Given the description of an element on the screen output the (x, y) to click on. 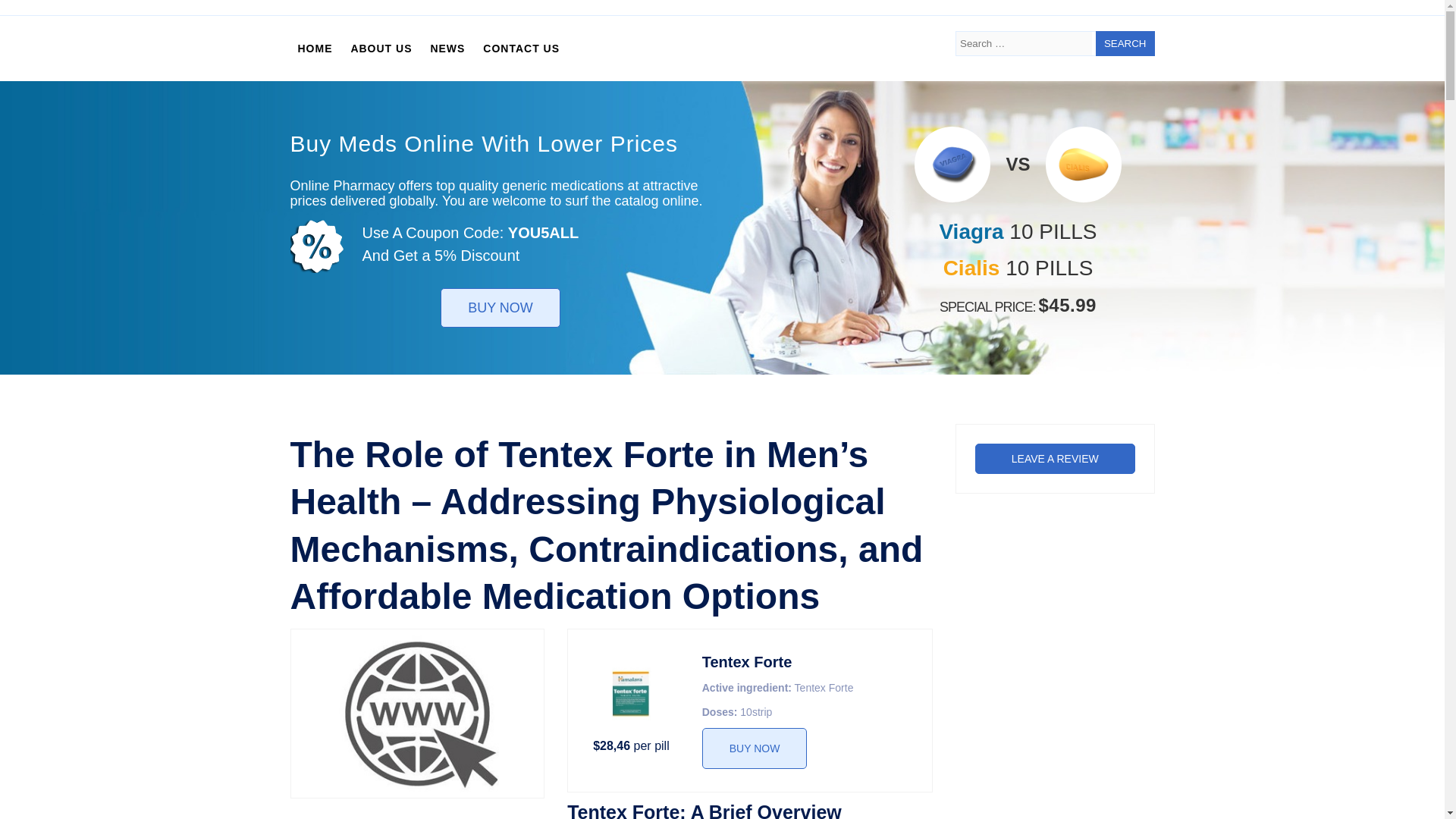
CONTACT US (521, 48)
SEARCH (1125, 43)
LEAVE A REVIEW (1055, 458)
Leave a Review (1055, 458)
BUY NOW (754, 748)
NEWS (446, 48)
Buy Now (754, 748)
ABOUT US (380, 48)
HOME (314, 48)
